Given the description of an element on the screen output the (x, y) to click on. 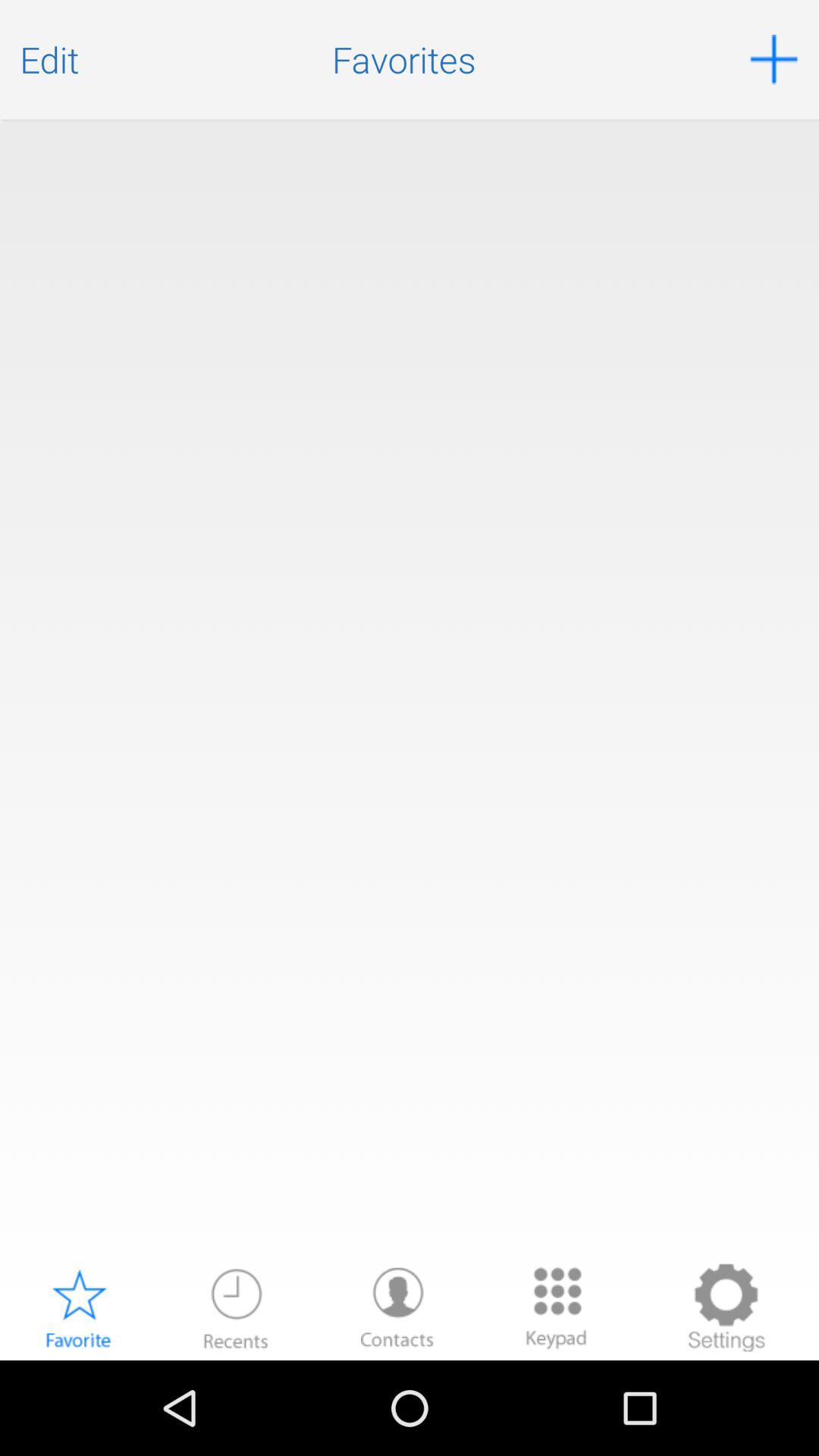
text box (409, 690)
